Given the description of an element on the screen output the (x, y) to click on. 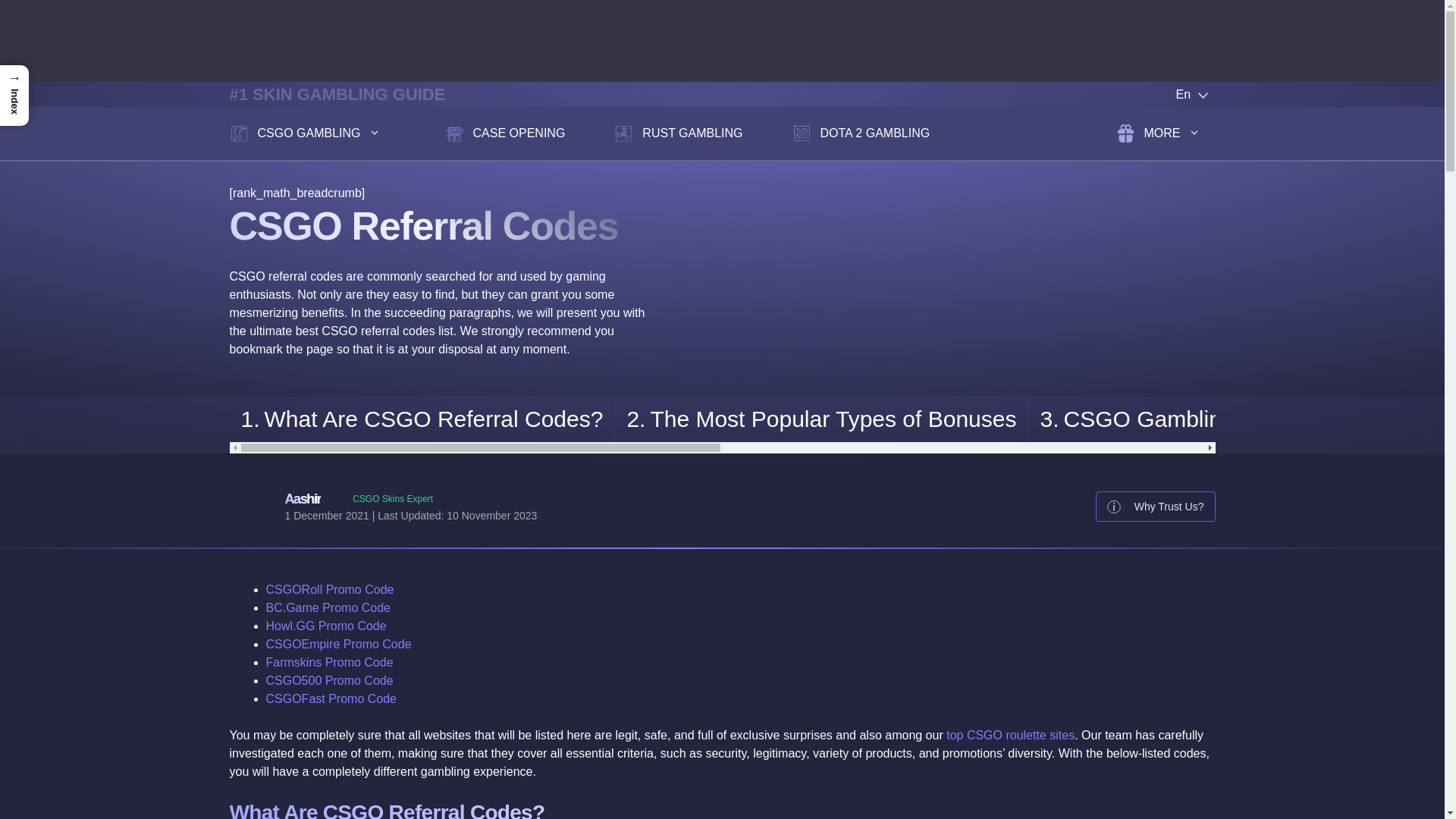
CSGOEmpire Promo Code (337, 644)
DOTA 2 GAMBLING (861, 133)
Farmskins Promo Code (328, 662)
top CSGO roulette sites (1010, 735)
En (1181, 94)
Aashir (303, 499)
What Are CSGO Referral Codes? (421, 419)
The Most Popular Types of Bonuses (820, 419)
The Most Popular Types of Bonuses (820, 419)
What Are CSGO Referral Codes? (421, 419)
CSGORoll Promo Code (328, 589)
CSGORadar.com (721, 39)
CSGOFast Promo Code (330, 698)
MORE (1165, 133)
CSGO500 Promo Code (328, 680)
